Given the description of an element on the screen output the (x, y) to click on. 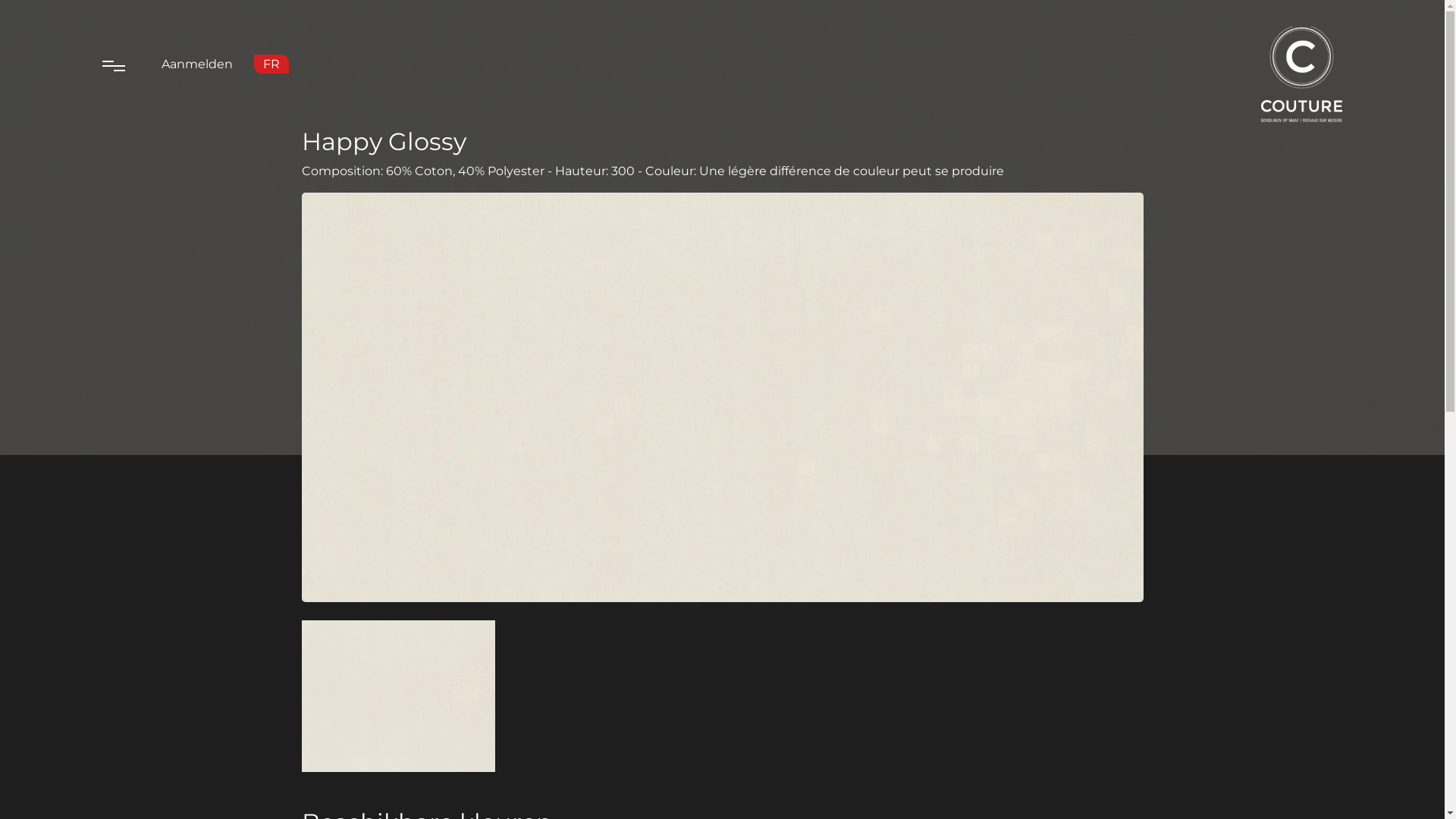
Aanmelden Element type: text (196, 63)
FR Element type: text (271, 63)
